Given the description of an element on the screen output the (x, y) to click on. 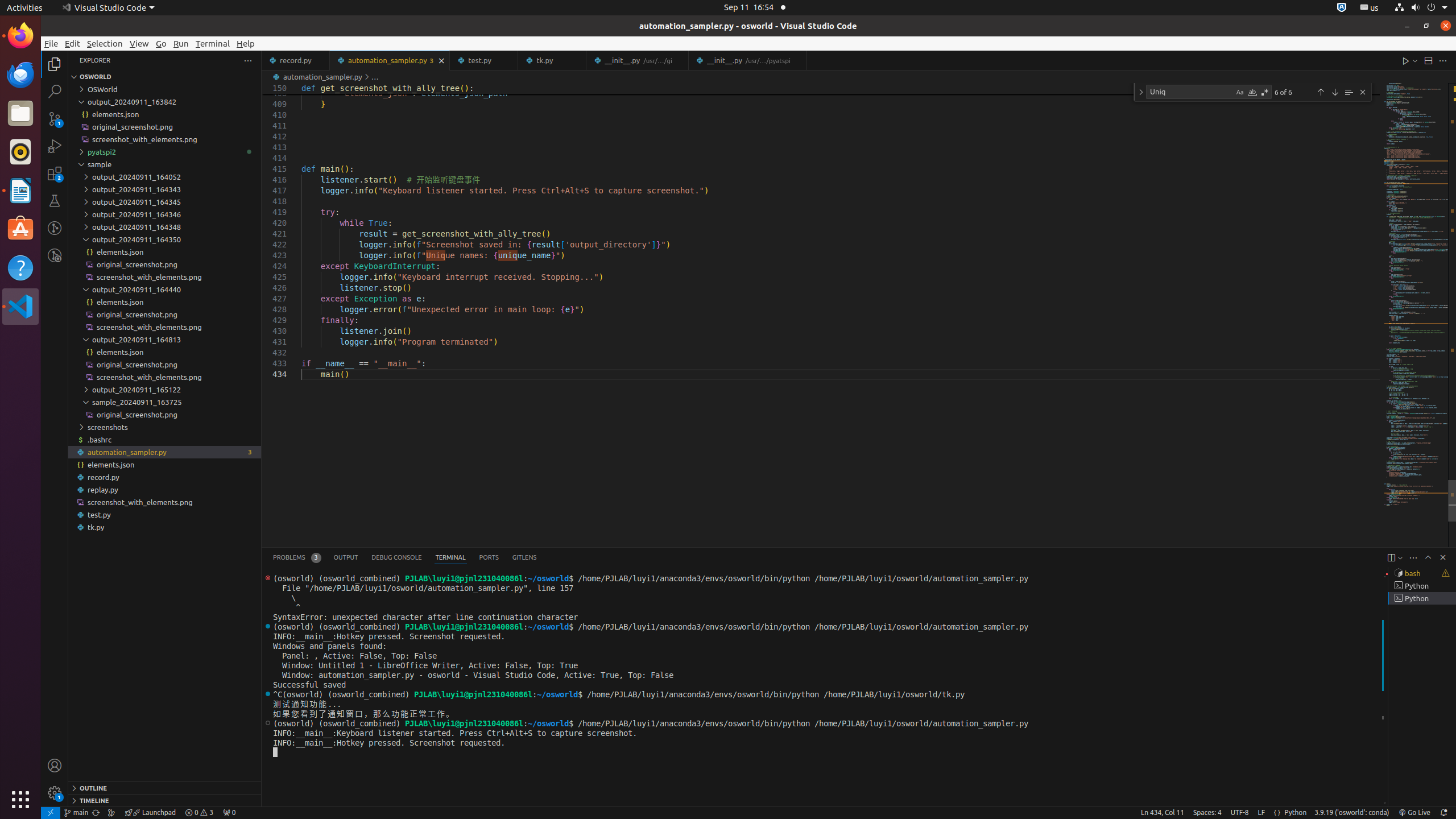
Close (Escape) Element type: push-button (1362, 91)
Problems (Ctrl+Shift+M) - Total 3 Problems Element type: page-tab (296, 557)
Active View Switcher Element type: page-tab-list (404, 557)
Search (Ctrl+Shift+F) Element type: page-tab (54, 91)
Extensions (Ctrl+Shift+X) - 2 require update Element type: page-tab (54, 173)
